Given the description of an element on the screen output the (x, y) to click on. 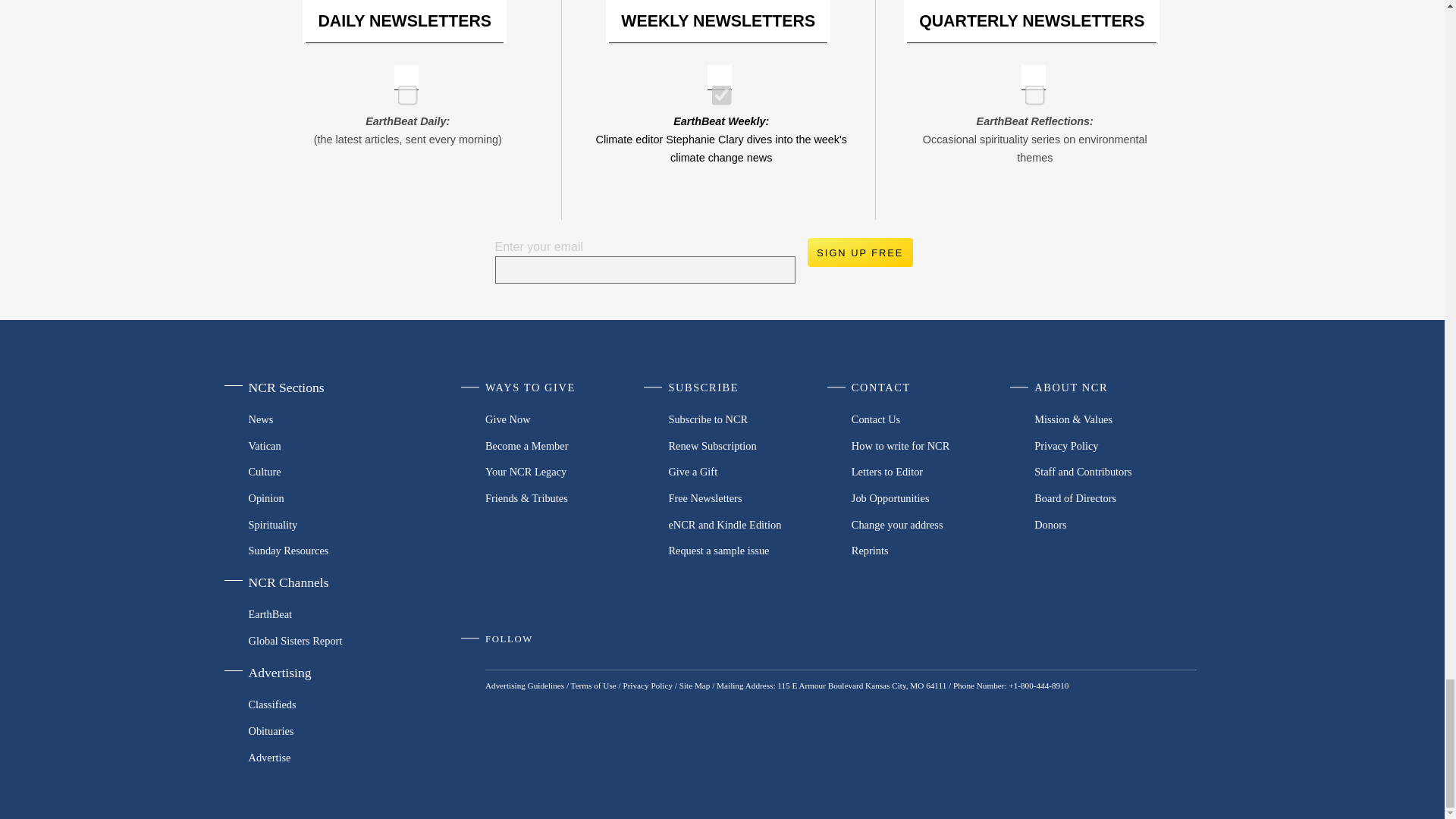
Request a sample issue of NCR (748, 550)
Donors (1114, 524)
ef6500f2d3 (715, 90)
efa1b974a2 (402, 90)
Change your address (932, 524)
Sign up free (859, 252)
bcf567f831 (1030, 90)
Request a reprint of NCR content (932, 550)
Advertise with NCR (324, 756)
How to write for NCR (932, 445)
